Given the description of an element on the screen output the (x, y) to click on. 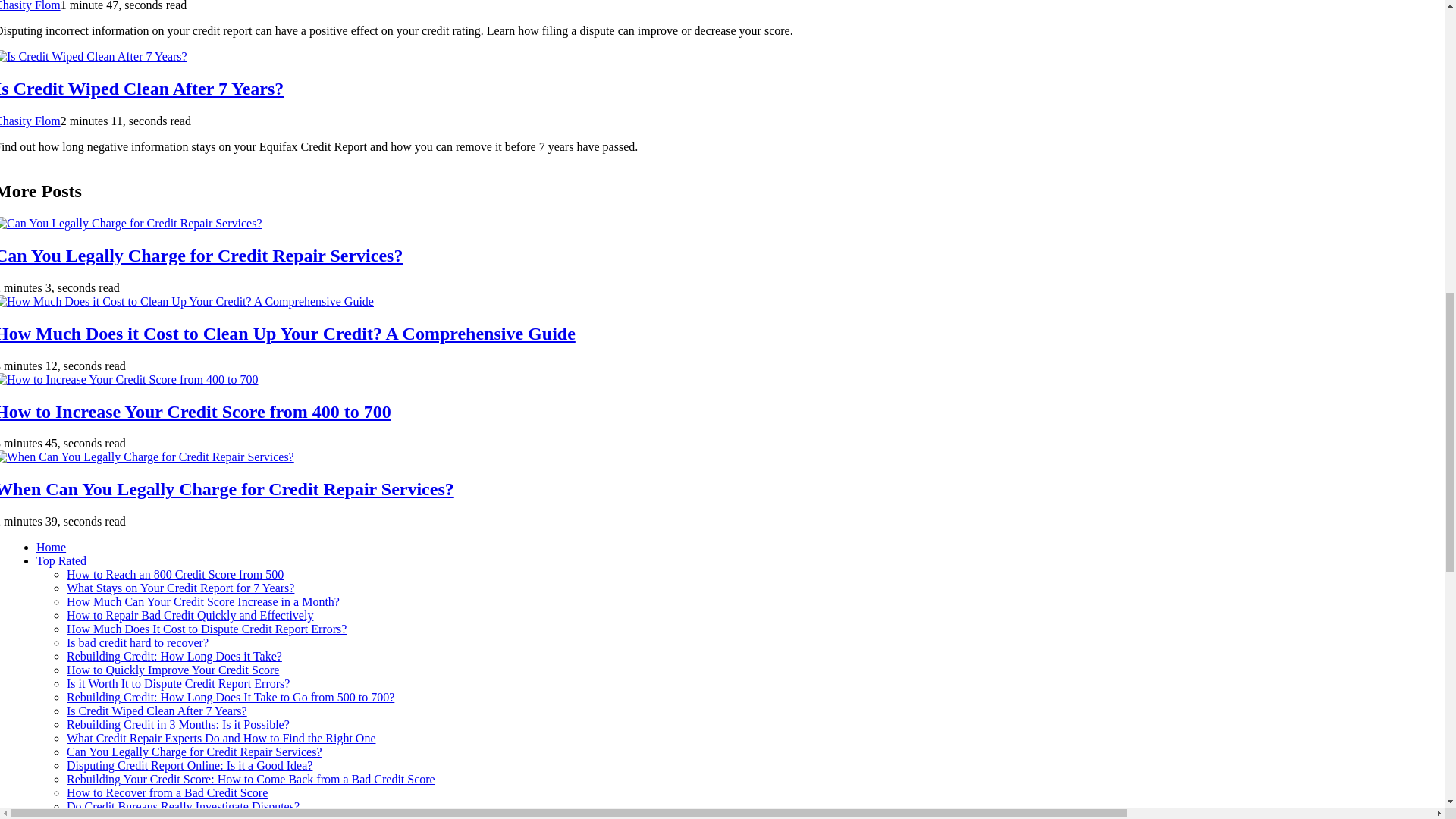
How to Reach an 800 Credit Score from 500 (174, 574)
How Much Does It Cost to Dispute Credit Report Errors? (206, 628)
Chasity Flom (30, 5)
Home (50, 546)
How to Repair Bad Credit Quickly and Effectively (189, 615)
Posts by Chasity Flom (30, 120)
How to Increase Your Credit Score from 400 to 700 (195, 411)
How Much Can Your Credit Score Increase in a Month? (202, 601)
When Can You Legally Charge for Credit Repair Services? (227, 488)
Posts by Chasity Flom (30, 5)
Is bad credit hard to recover? (137, 642)
What Stays on Your Credit Report for 7 Years? (180, 587)
Is Credit Wiped Clean After 7 Years? (141, 88)
Can You Legally Charge for Credit Repair Services? (201, 255)
